Given the description of an element on the screen output the (x, y) to click on. 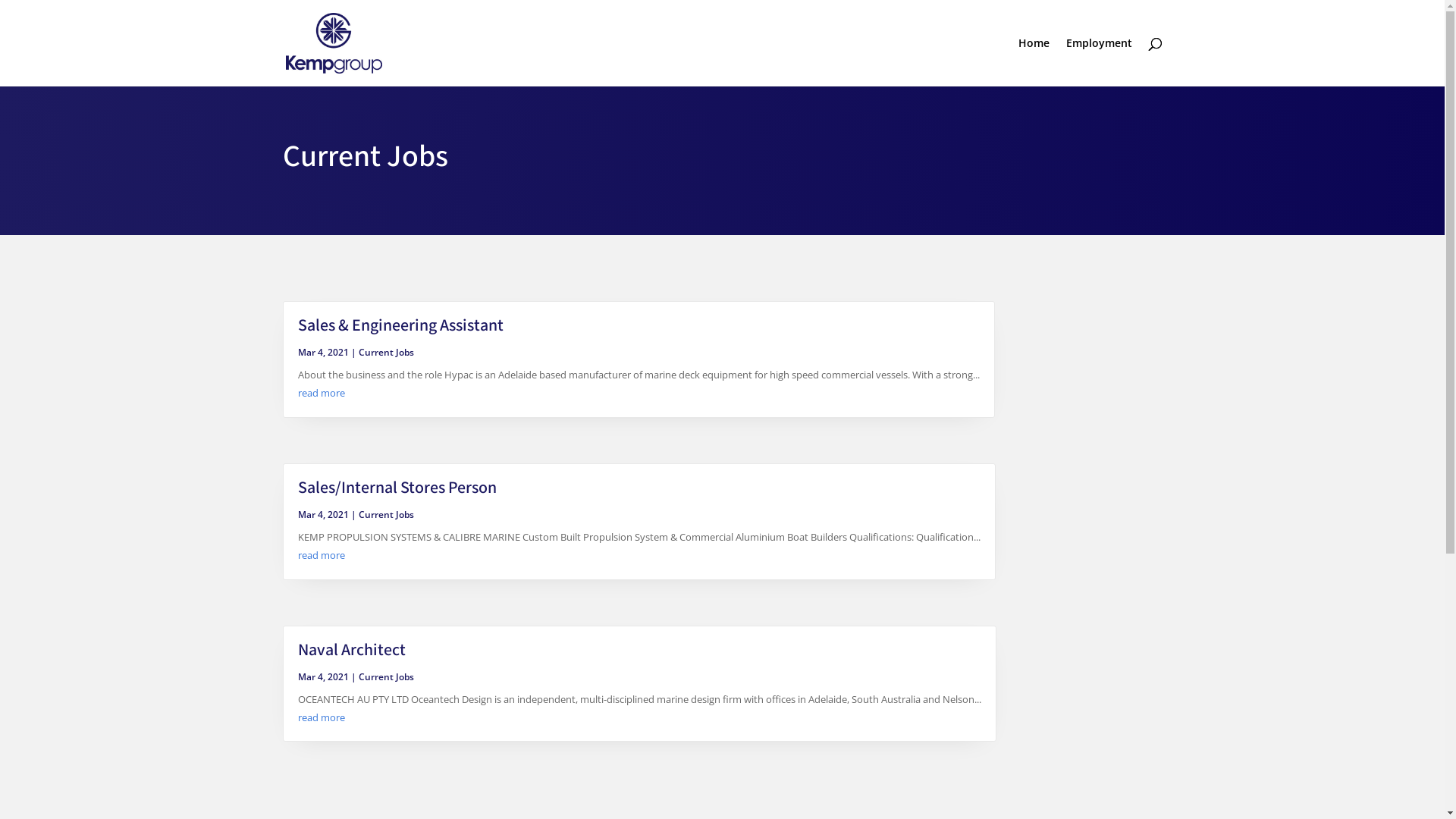
read more Element type: text (320, 717)
Sales & Engineering Assistant Element type: text (399, 325)
Naval Architect Element type: text (350, 650)
read more Element type: text (320, 554)
Employment Element type: text (1099, 61)
Current Jobs Element type: text (385, 676)
Current Jobs Element type: text (385, 514)
read more Element type: text (320, 392)
Current Jobs Element type: text (385, 351)
Home Element type: text (1032, 61)
Sales/Internal Stores Person Element type: text (396, 487)
